Given the description of an element on the screen output the (x, y) to click on. 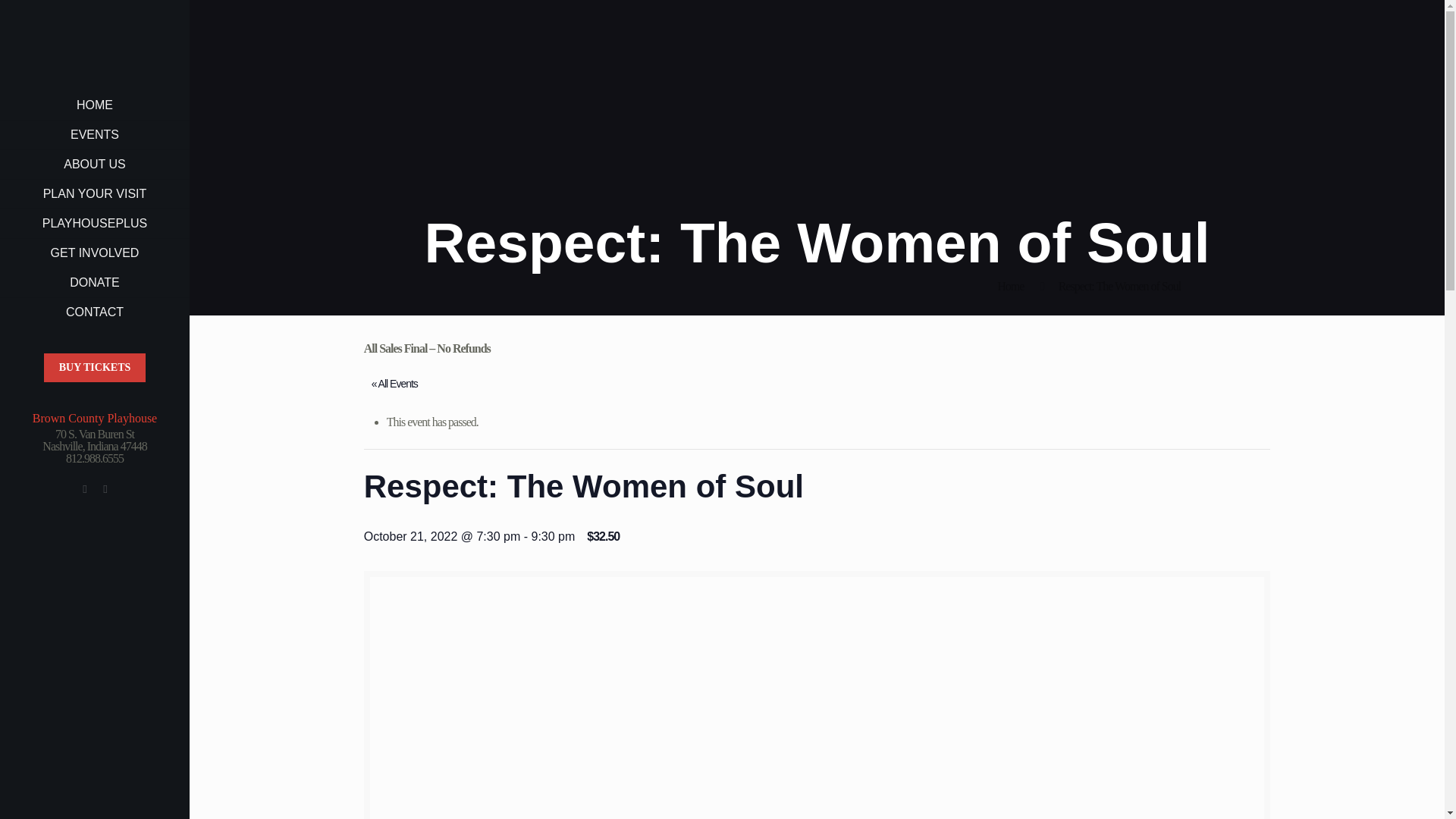
Brown County Playhouse (94, 45)
BUY TICKETS (95, 367)
Respect: The Women of Soul (1119, 286)
GET INVOLVED (94, 253)
HOME (94, 105)
EVENTS (94, 134)
PLAN YOUR VISIT (94, 194)
ABOUT US (94, 164)
Instagram (105, 489)
CONTACT (94, 312)
DONATE (94, 283)
Facebook (85, 489)
PLAYHOUSEPLUS (94, 224)
Home (1010, 286)
